Given the description of an element on the screen output the (x, y) to click on. 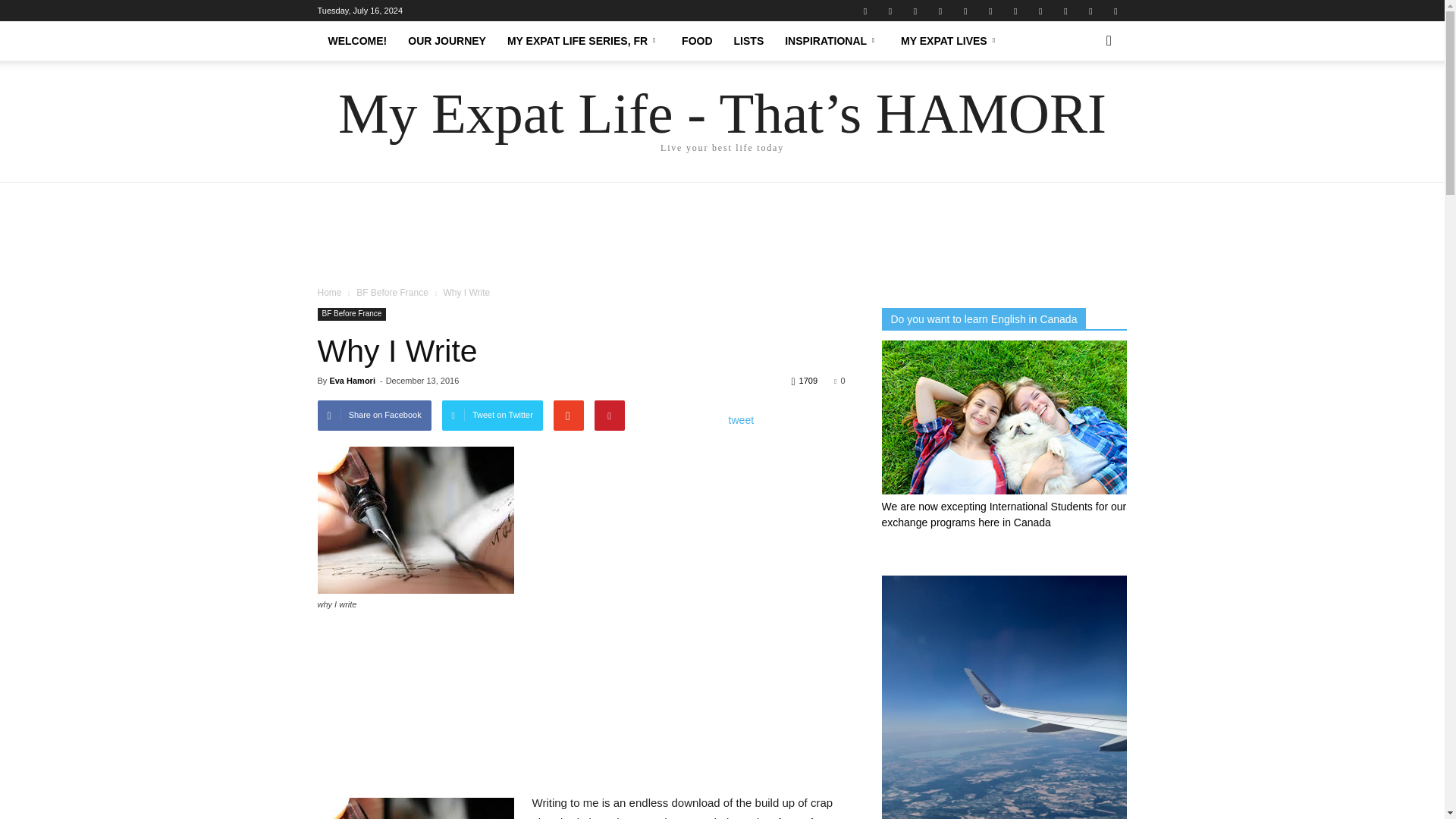
Instagram (915, 10)
Facebook (864, 10)
Linkedin (940, 10)
